Given the description of an element on the screen output the (x, y) to click on. 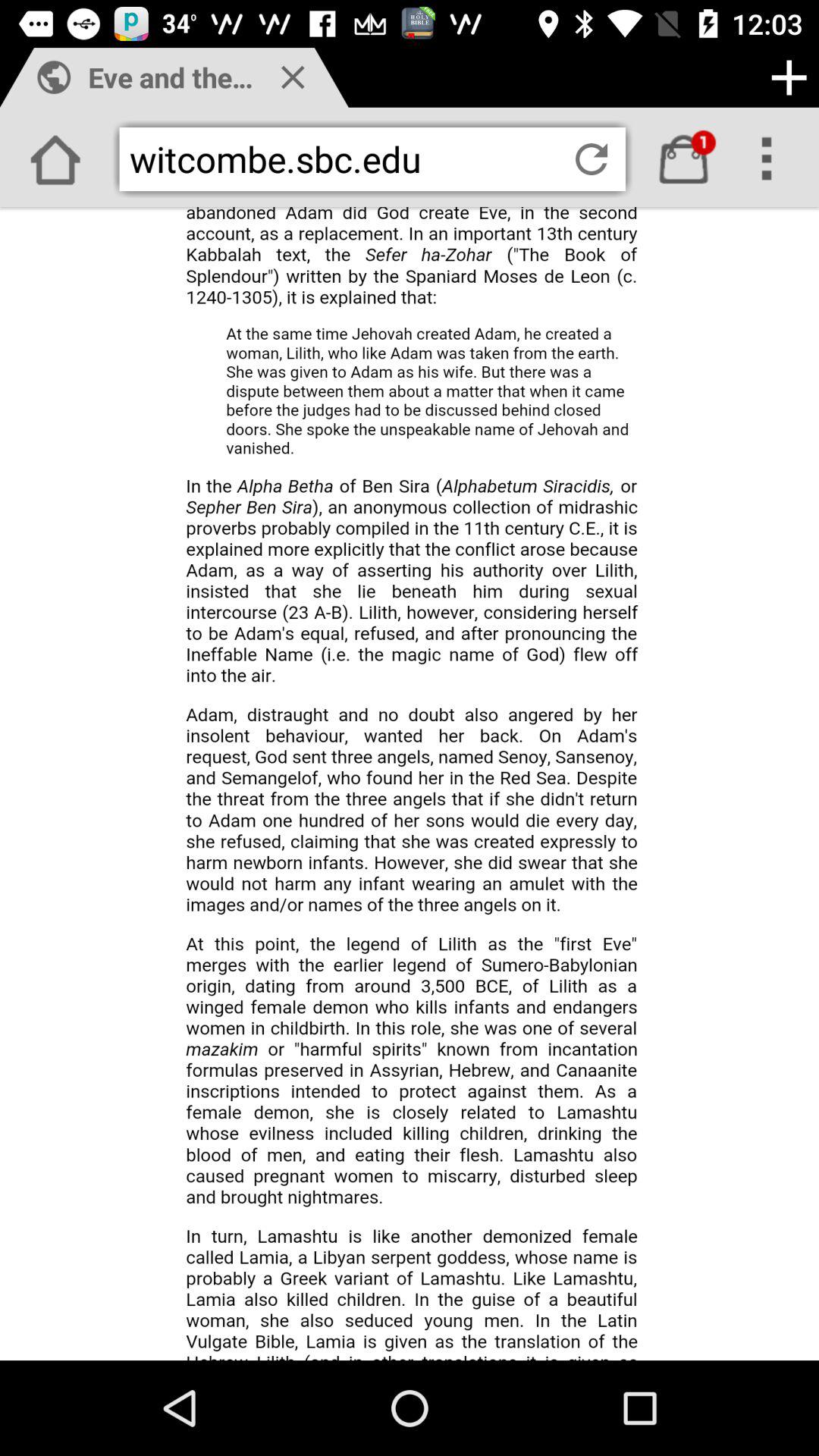
open another tab (789, 77)
